Given the description of an element on the screen output the (x, y) to click on. 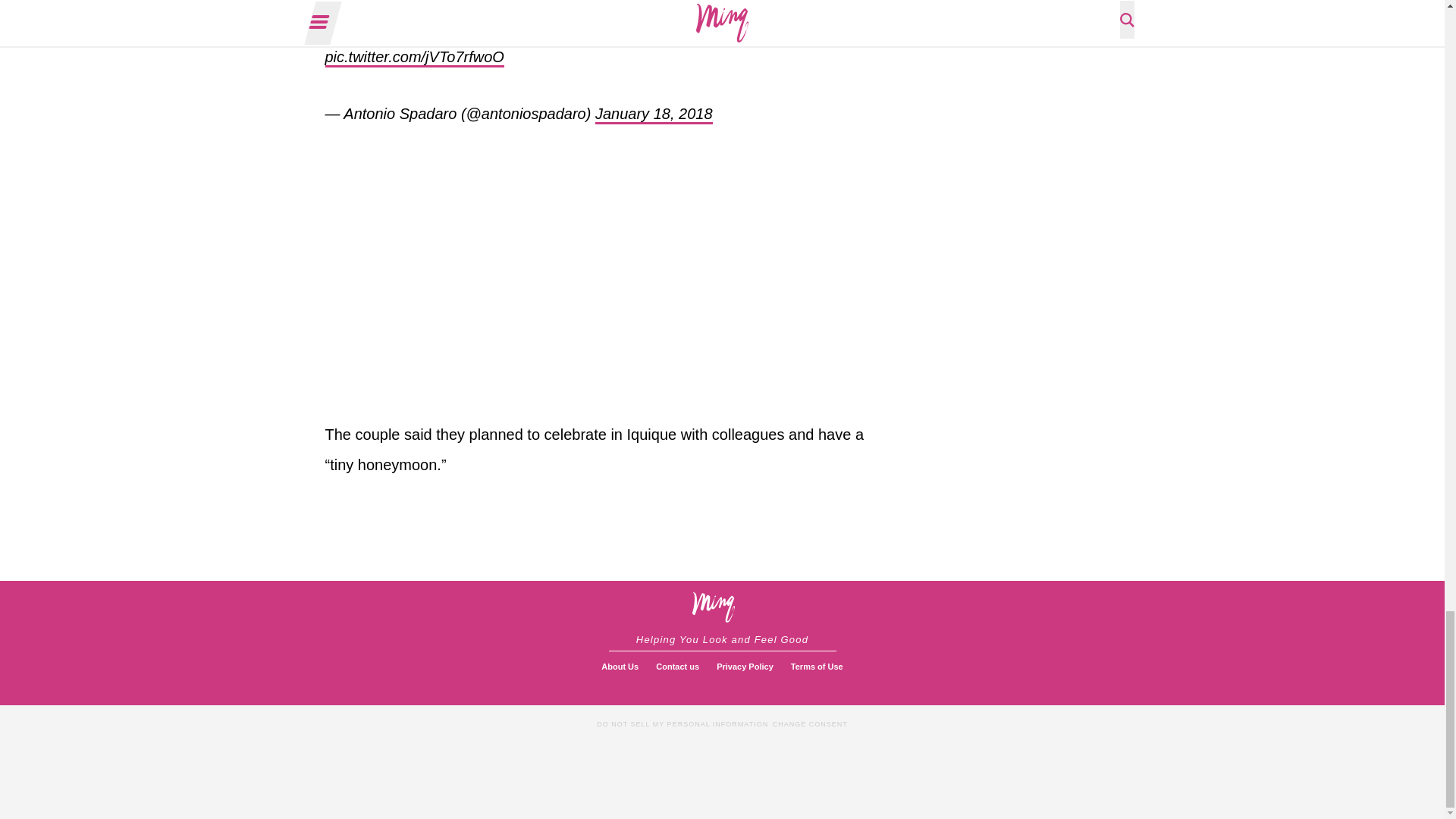
Privacy Policy (744, 666)
Contact us (676, 666)
January 18, 2018 (654, 114)
About Us (620, 666)
